Given the description of an element on the screen output the (x, y) to click on. 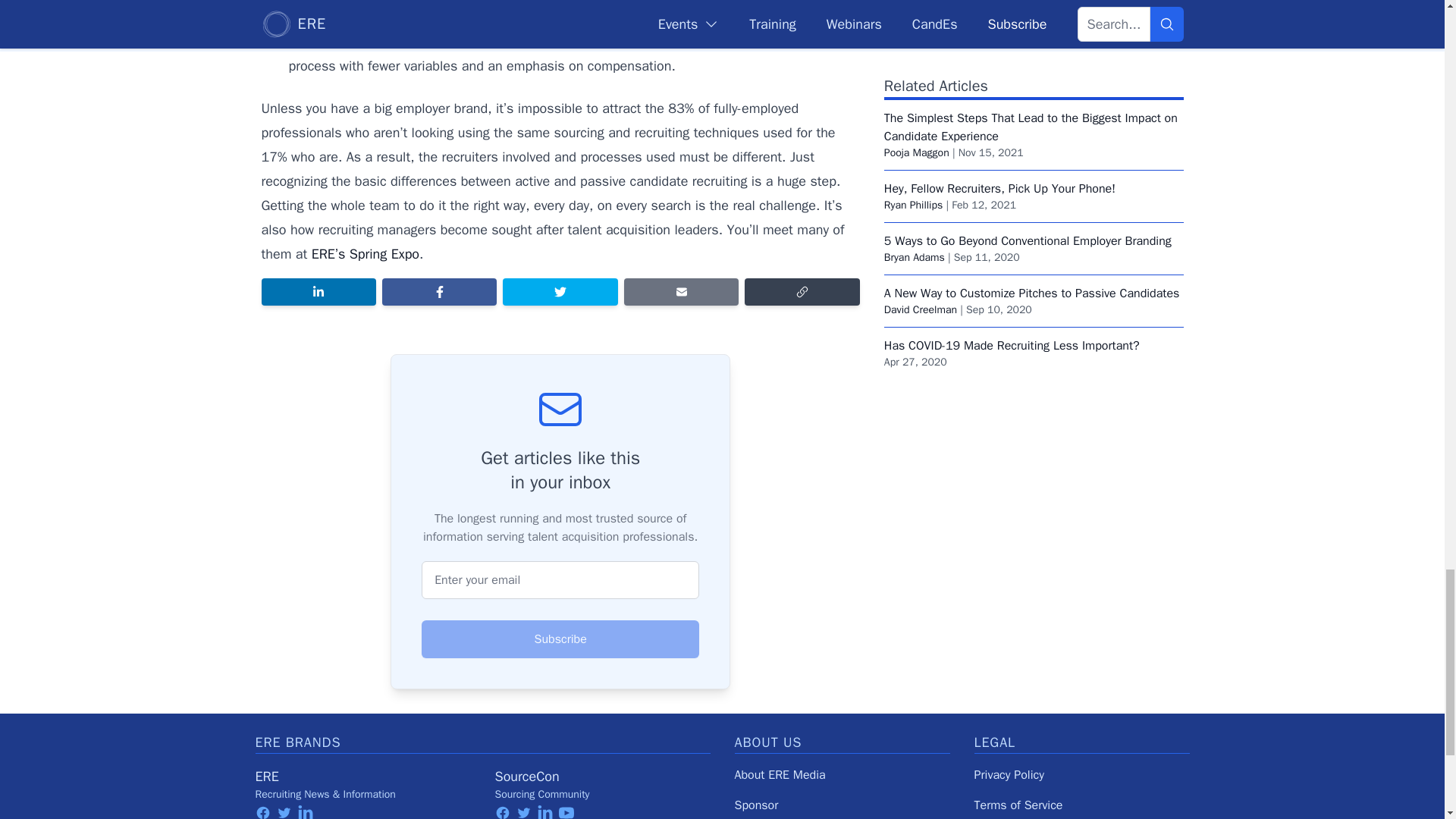
5 Ways to Go Beyond Conventional Employer Branding (1027, 20)
Subscribe (560, 638)
Bryan Adams (913, 37)
A New Way to Customize Pitches to Passive Candidates (1031, 73)
